Given the description of an element on the screen output the (x, y) to click on. 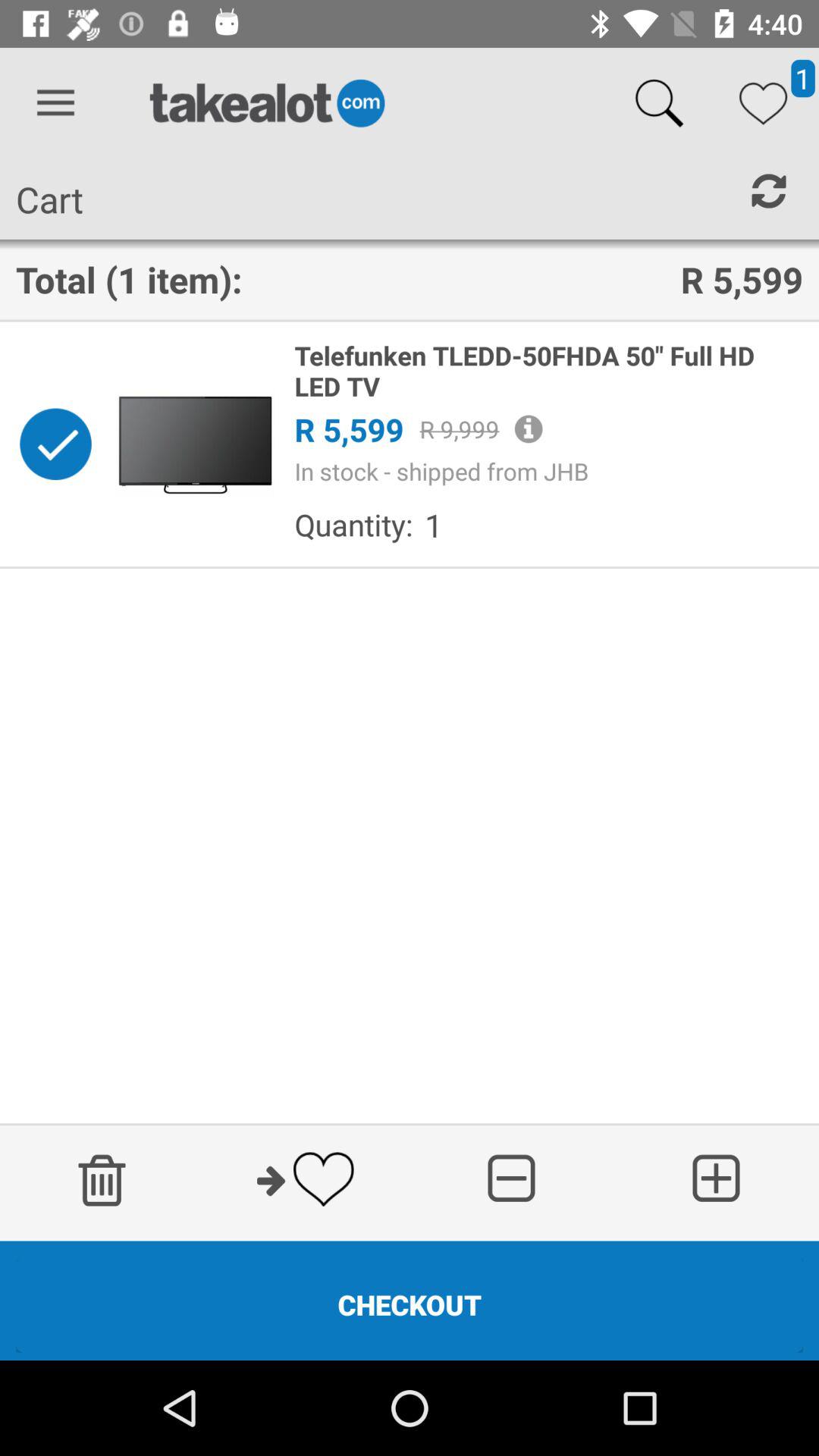
launch the icon above cart (55, 103)
